Given the description of an element on the screen output the (x, y) to click on. 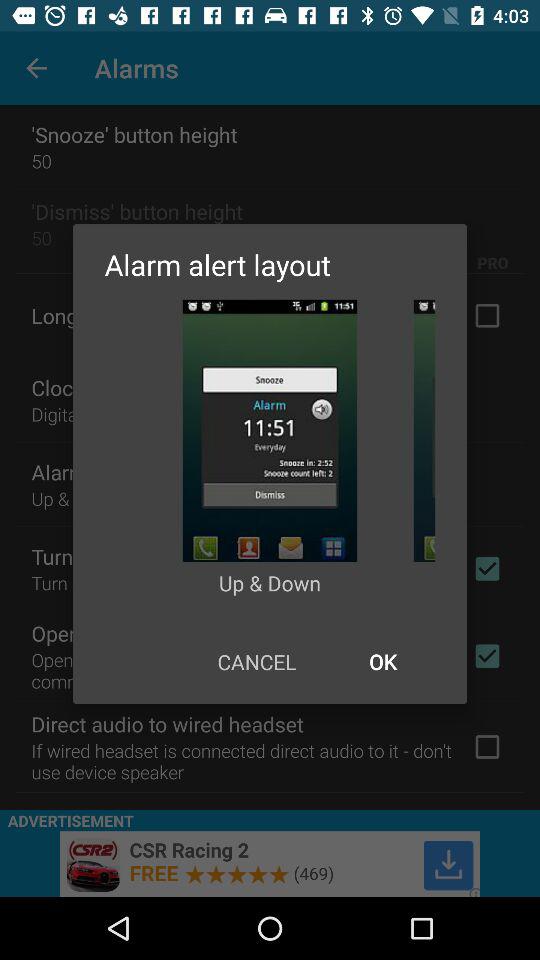
tap the item to the left of the ok icon (256, 661)
